Given the description of an element on the screen output the (x, y) to click on. 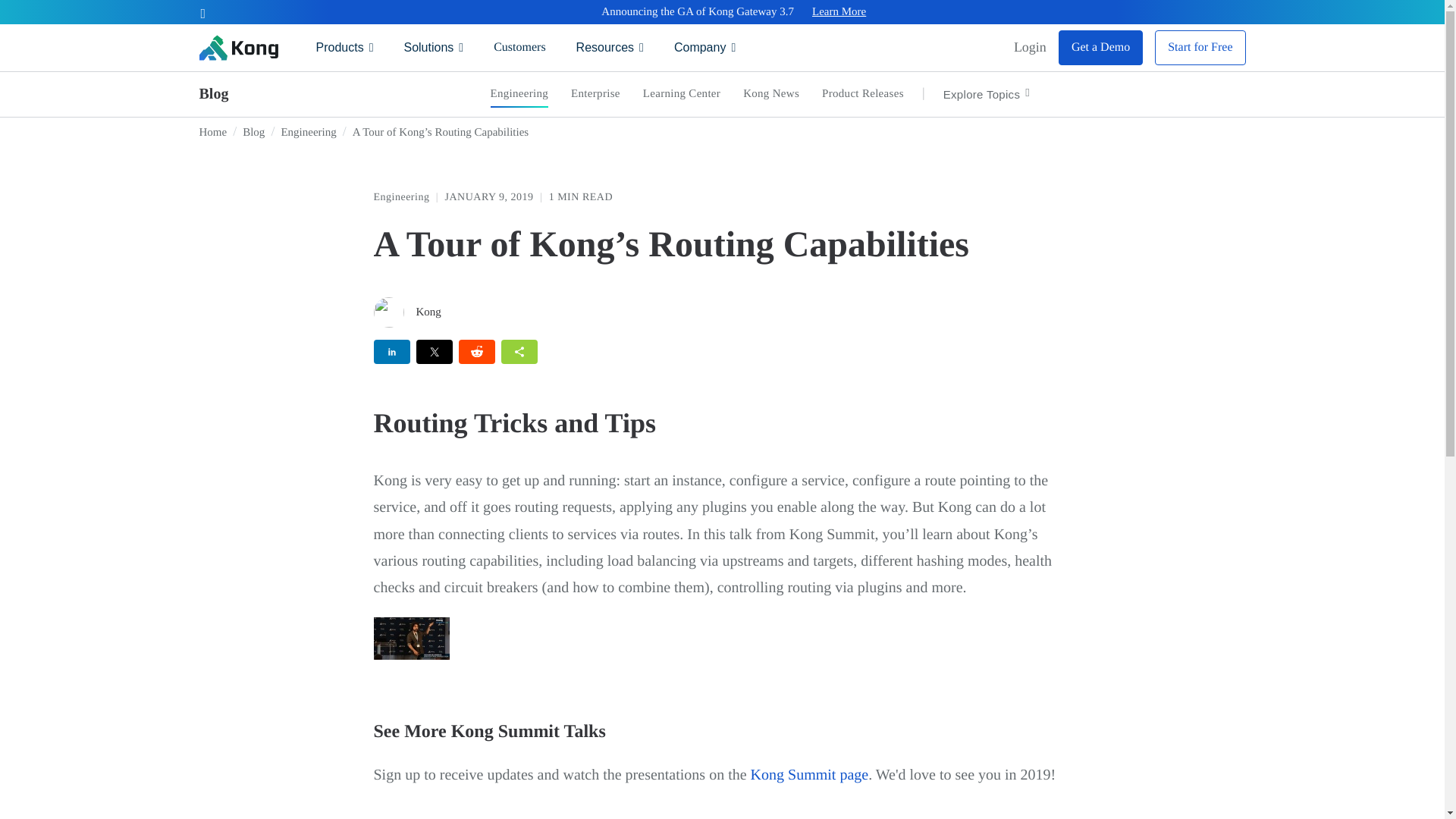
Learn More (839, 12)
Products (343, 47)
Solutions (433, 47)
